Given the description of an element on the screen output the (x, y) to click on. 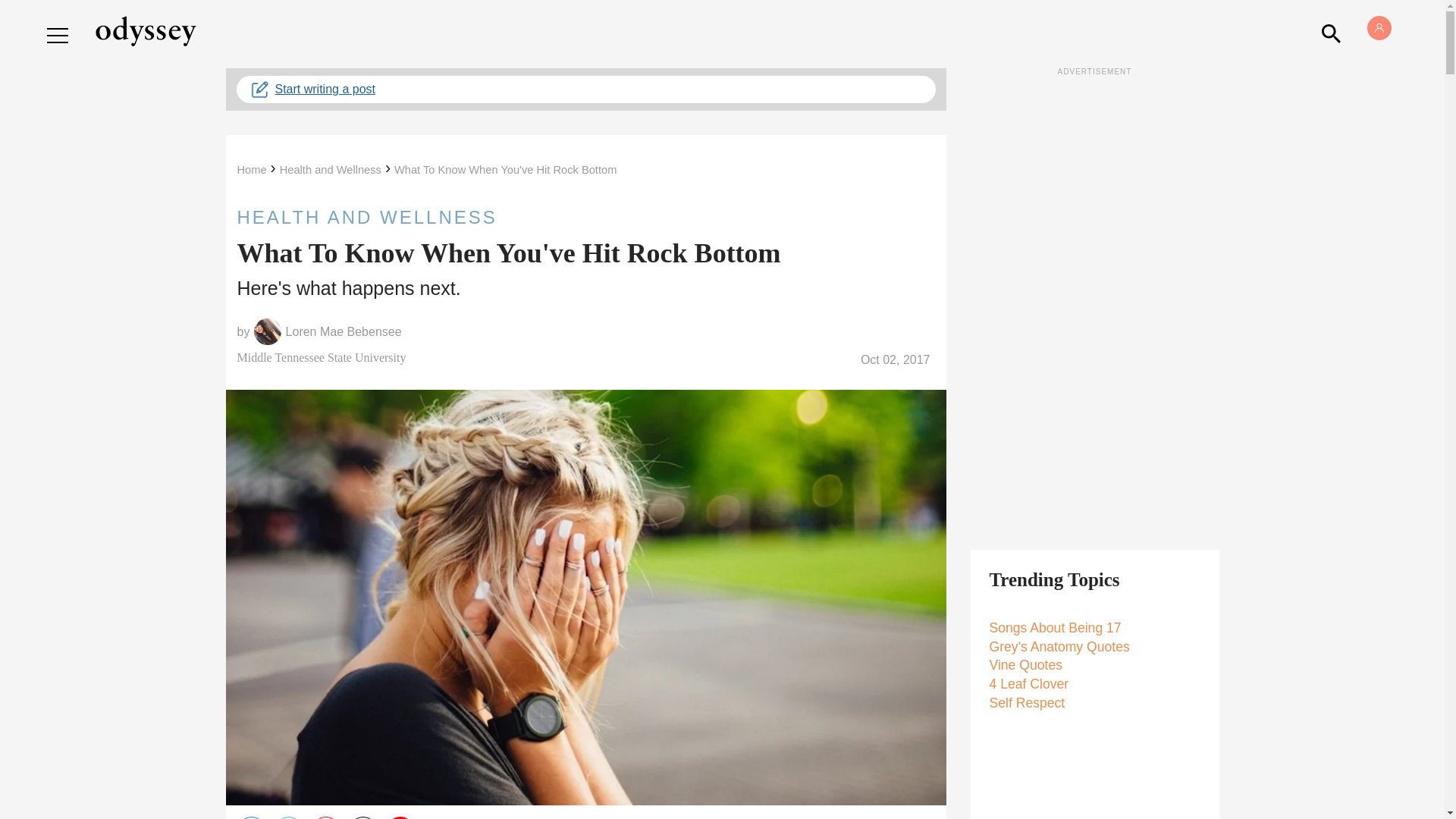
3rd party ad content (584, 771)
Loren Mae Bebensee (343, 332)
HEALTH AND WELLNESS (584, 217)
Home (250, 169)
What To Know When You've Hit Rock Bottom (504, 169)
Health and Wellness (330, 169)
3rd party ad content (1094, 306)
Start writing a post (585, 89)
